Given the description of an element on the screen output the (x, y) to click on. 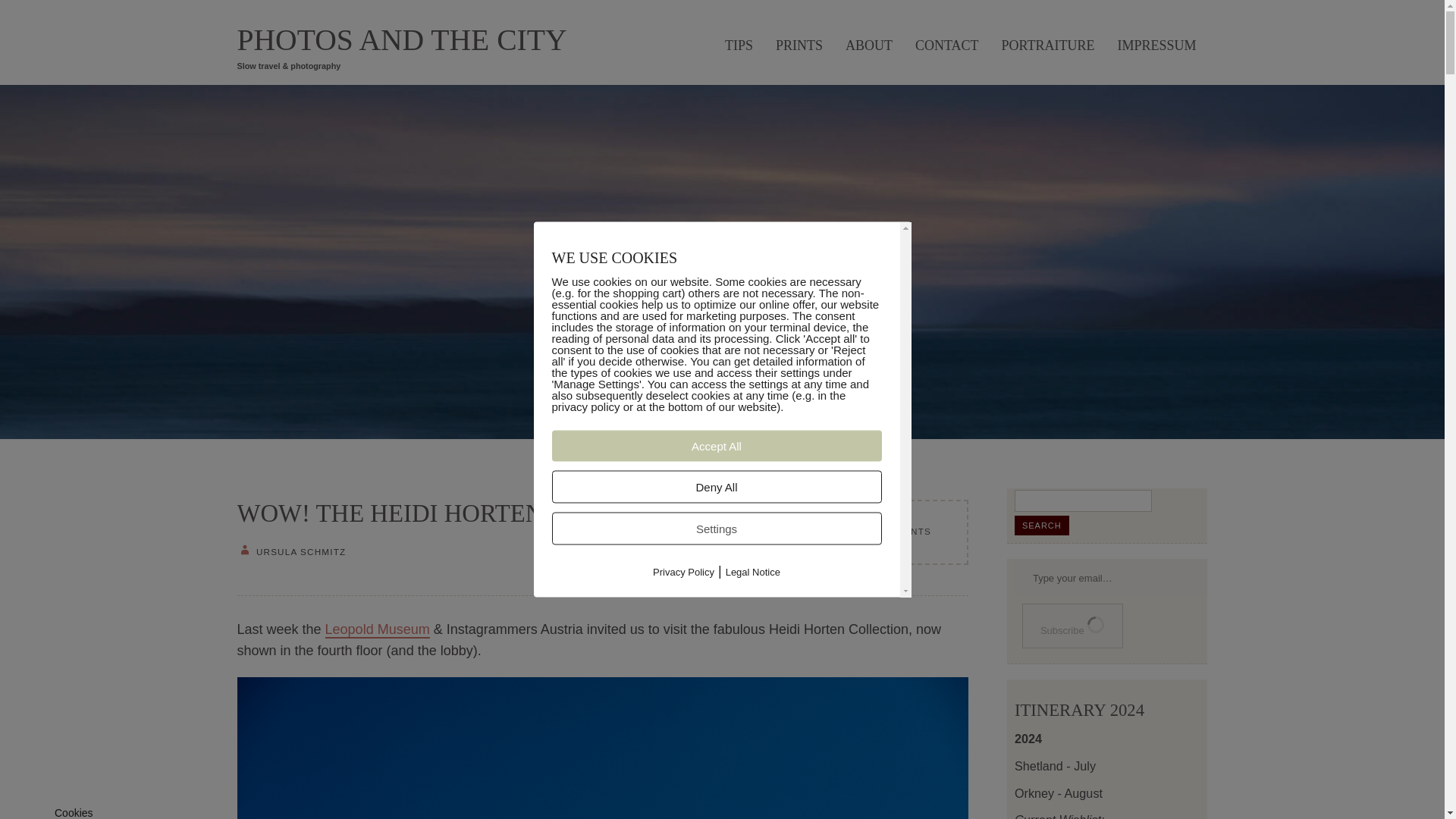
ABOUT (869, 43)
WOW! THE HEIDI HORTEN COLLECTION (469, 513)
PHOTOS AND THE CITY (400, 40)
NO COMMENTS (892, 531)
IMPRESSUM (1156, 43)
Skip to content (258, 23)
PORTRAITURE (1048, 43)
Leopold Museum (376, 629)
TIPS (738, 43)
Skip to content (258, 23)
